Given the description of an element on the screen output the (x, y) to click on. 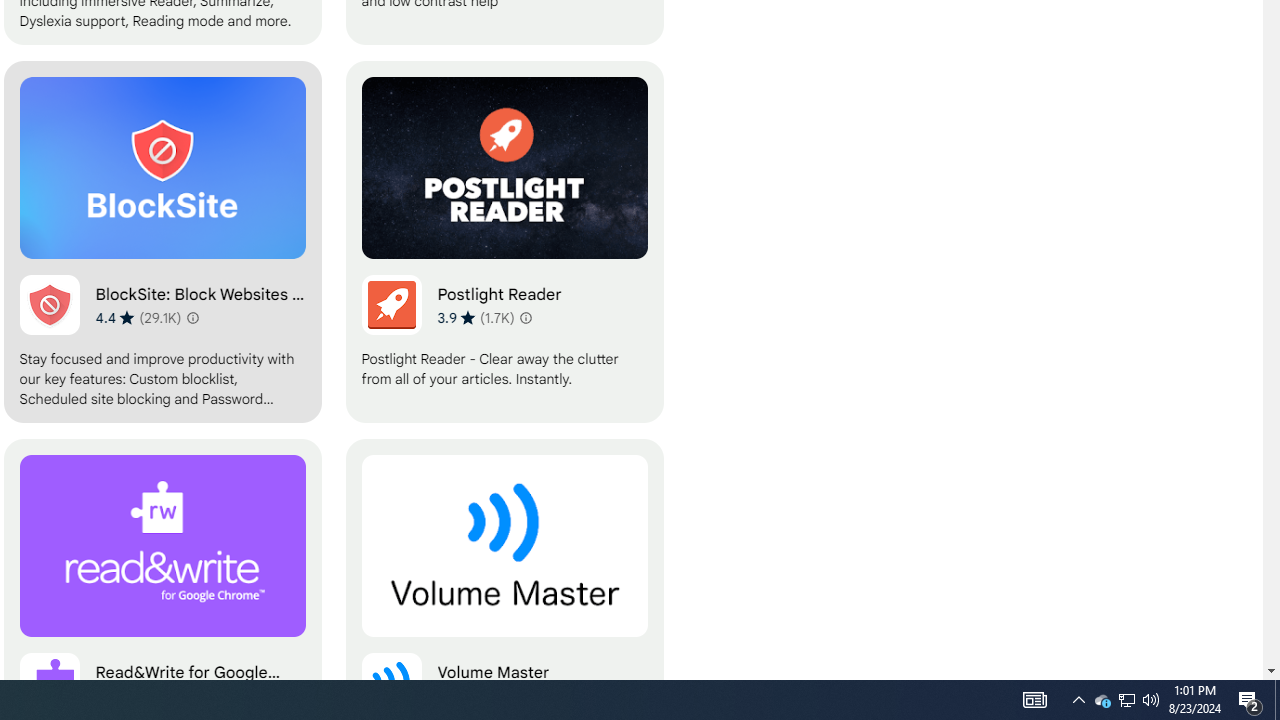
Learn more about results and reviews "Postlight Reader" (525, 317)
Average rating 3.9 out of 5 stars. 1.7K ratings. (475, 317)
BlockSite: Block Websites & Stay Focused (162, 242)
Average rating 4.4 out of 5 stars. 29.1K ratings. (137, 317)
Postlight Reader (504, 242)
